Given the description of an element on the screen output the (x, y) to click on. 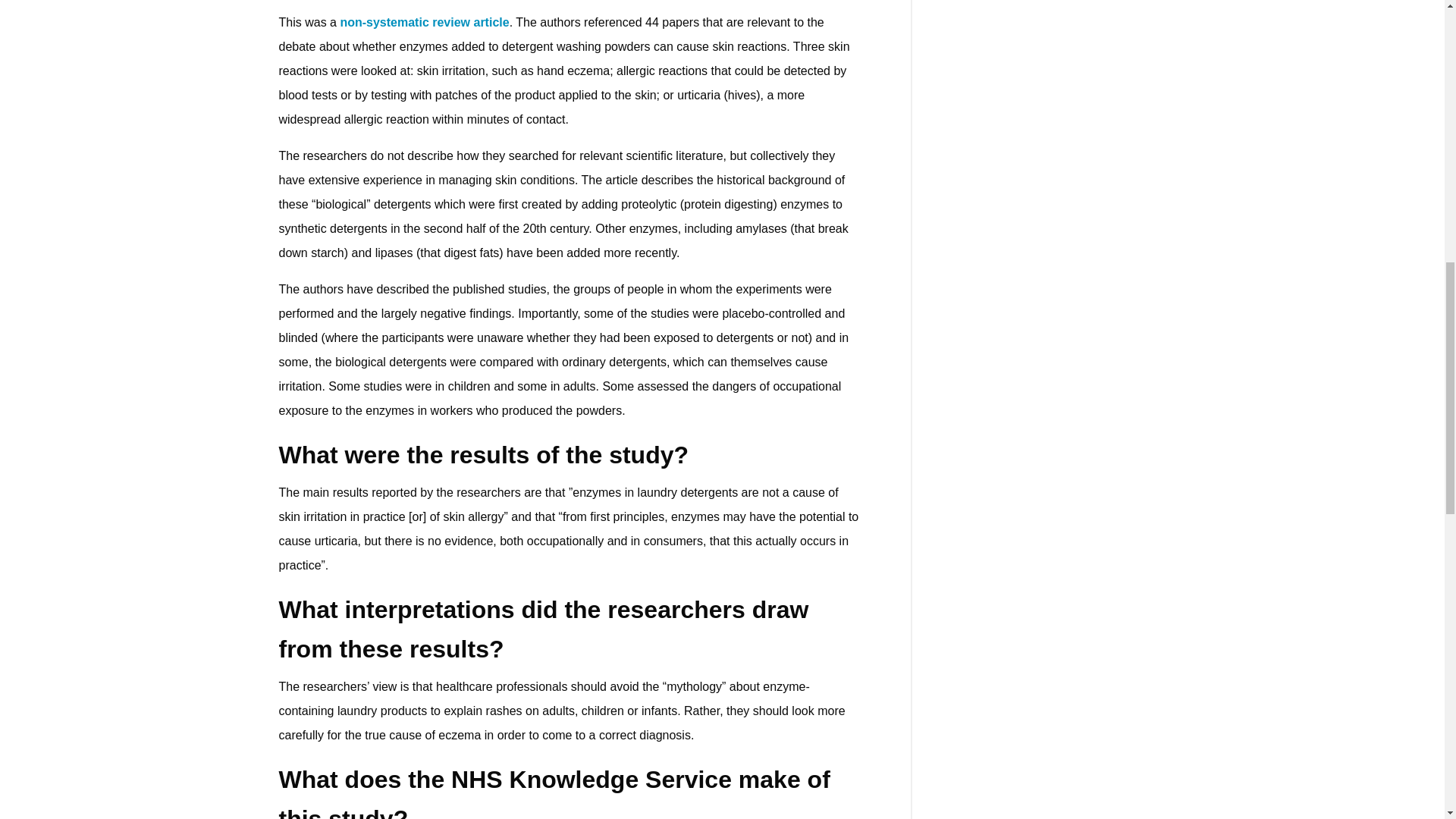
non-systematic review article (423, 21)
